Given the description of an element on the screen output the (x, y) to click on. 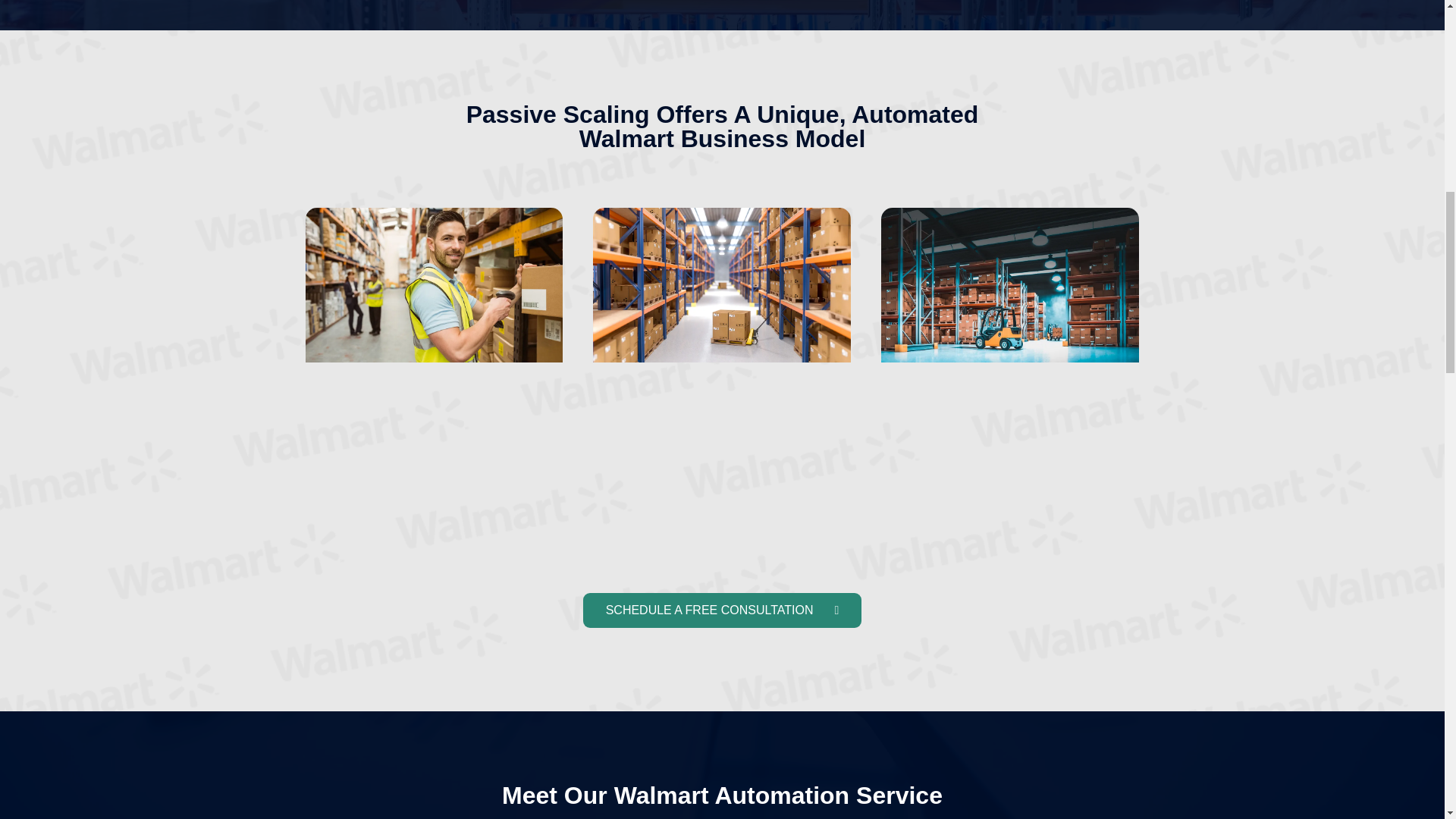
SCHEDULE A FREE CONSULTATION (722, 610)
